Given the description of an element on the screen output the (x, y) to click on. 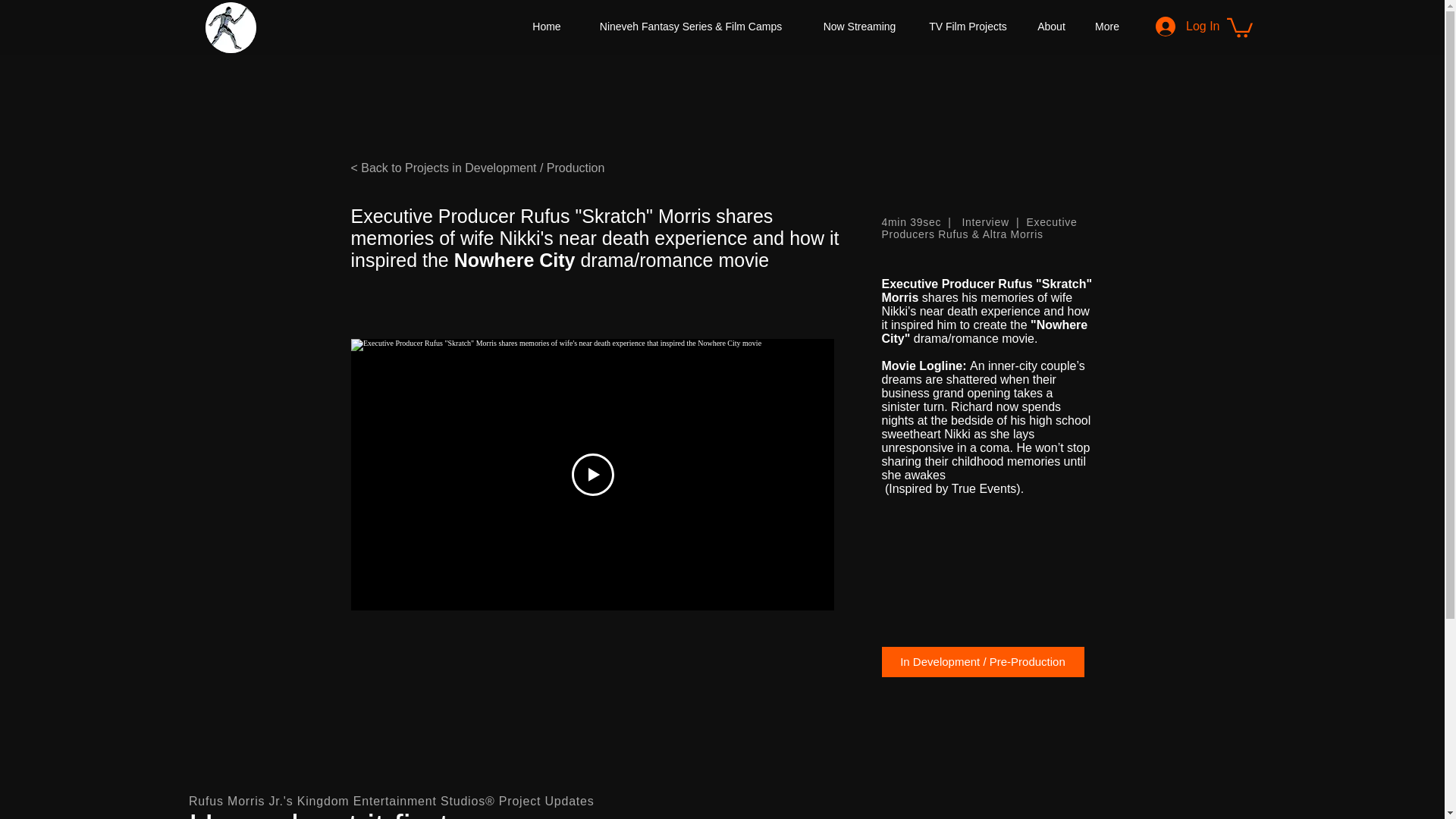
About (1051, 26)
Now Streaming (859, 26)
Log In (1174, 26)
Home (546, 26)
